Given the description of an element on the screen output the (x, y) to click on. 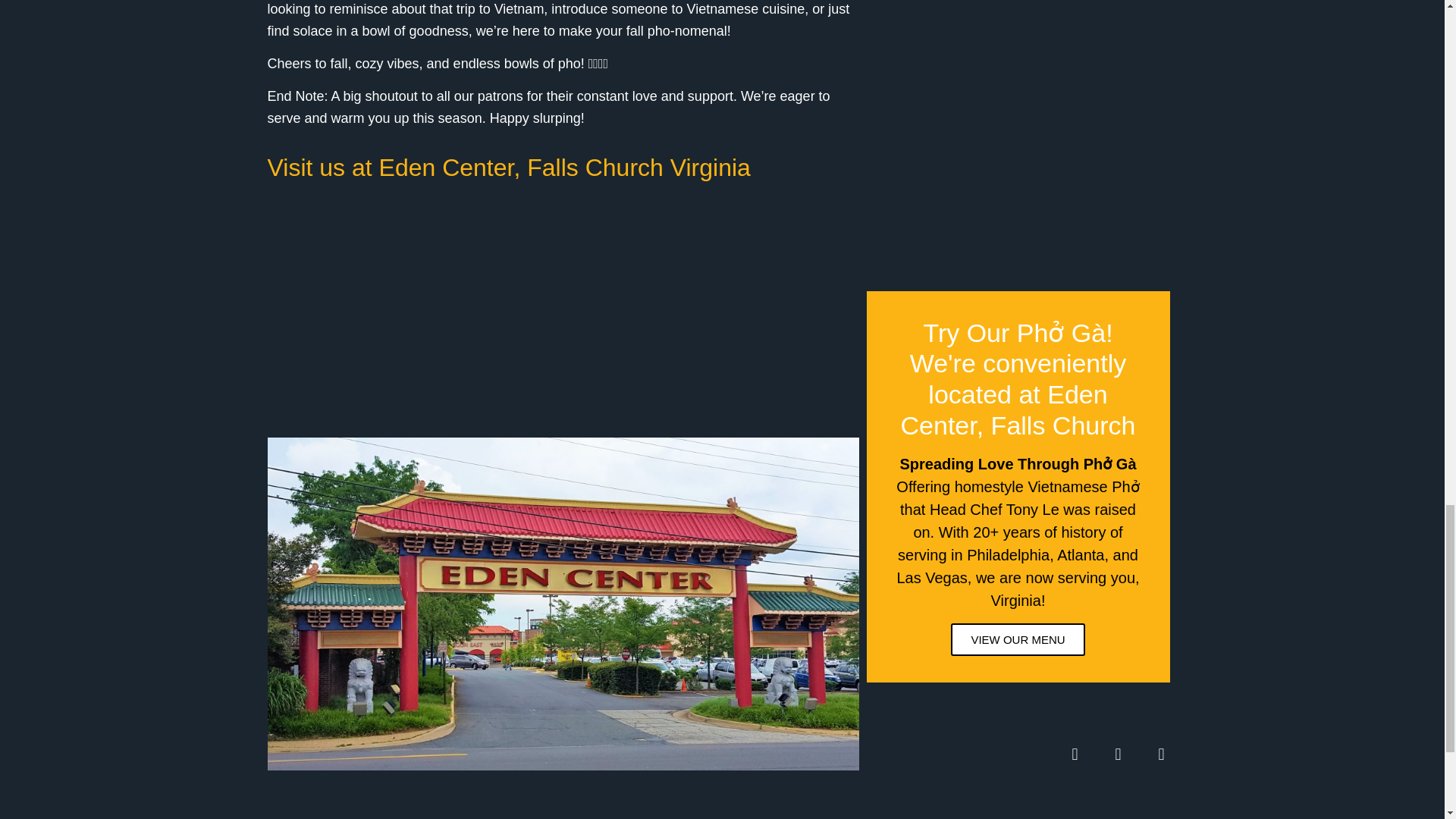
VIEW OUR MENU (1017, 639)
